Given the description of an element on the screen output the (x, y) to click on. 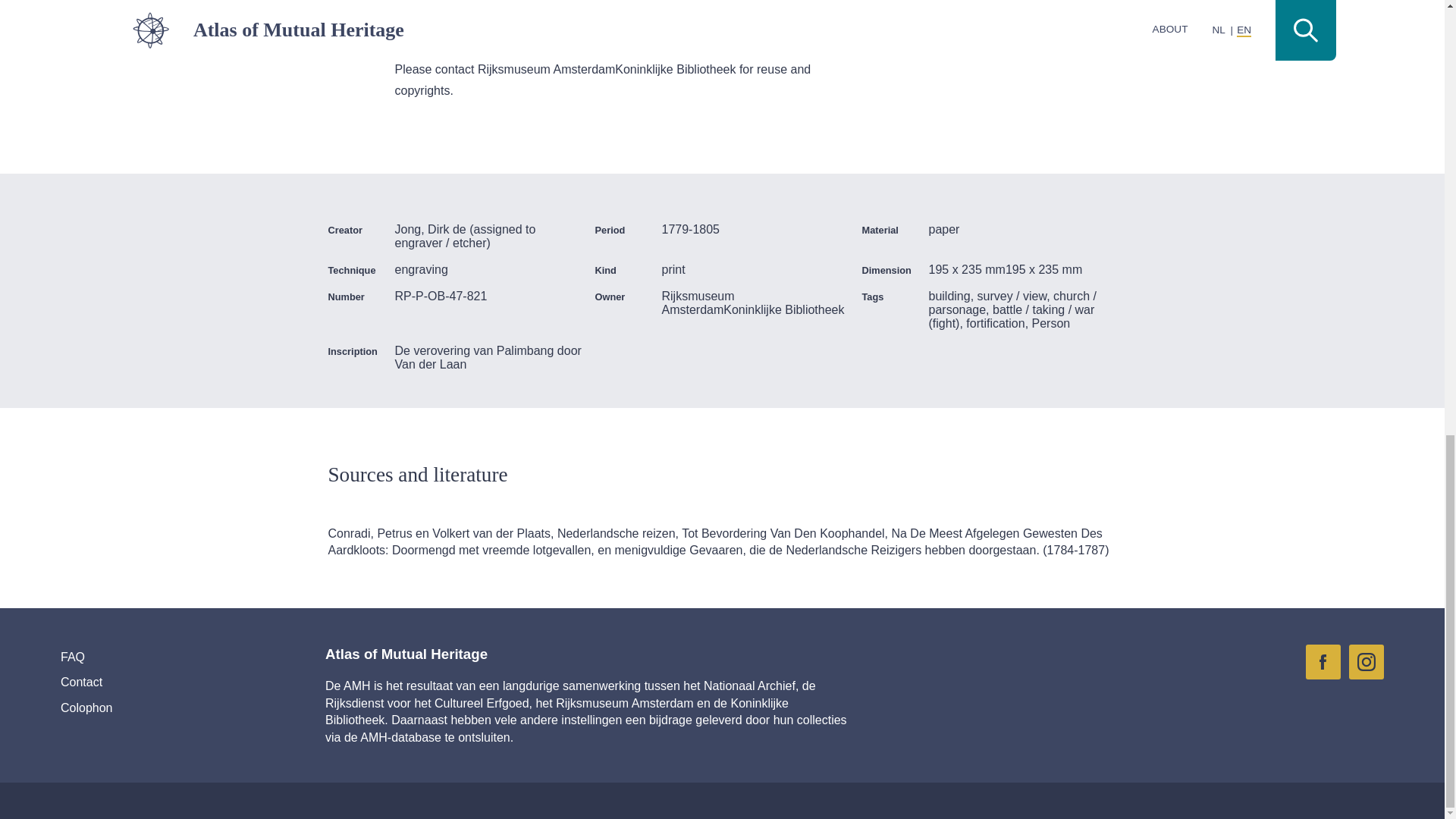
FAQ (160, 657)
Colophon (160, 708)
Contact (160, 682)
1DCCBCE1-524A-48CB-831E-C31DDC7F78AF (1323, 661)
7F10DEB0-DE4F-4124-ABEF-075F9CBF84BD (1366, 661)
